Given the description of an element on the screen output the (x, y) to click on. 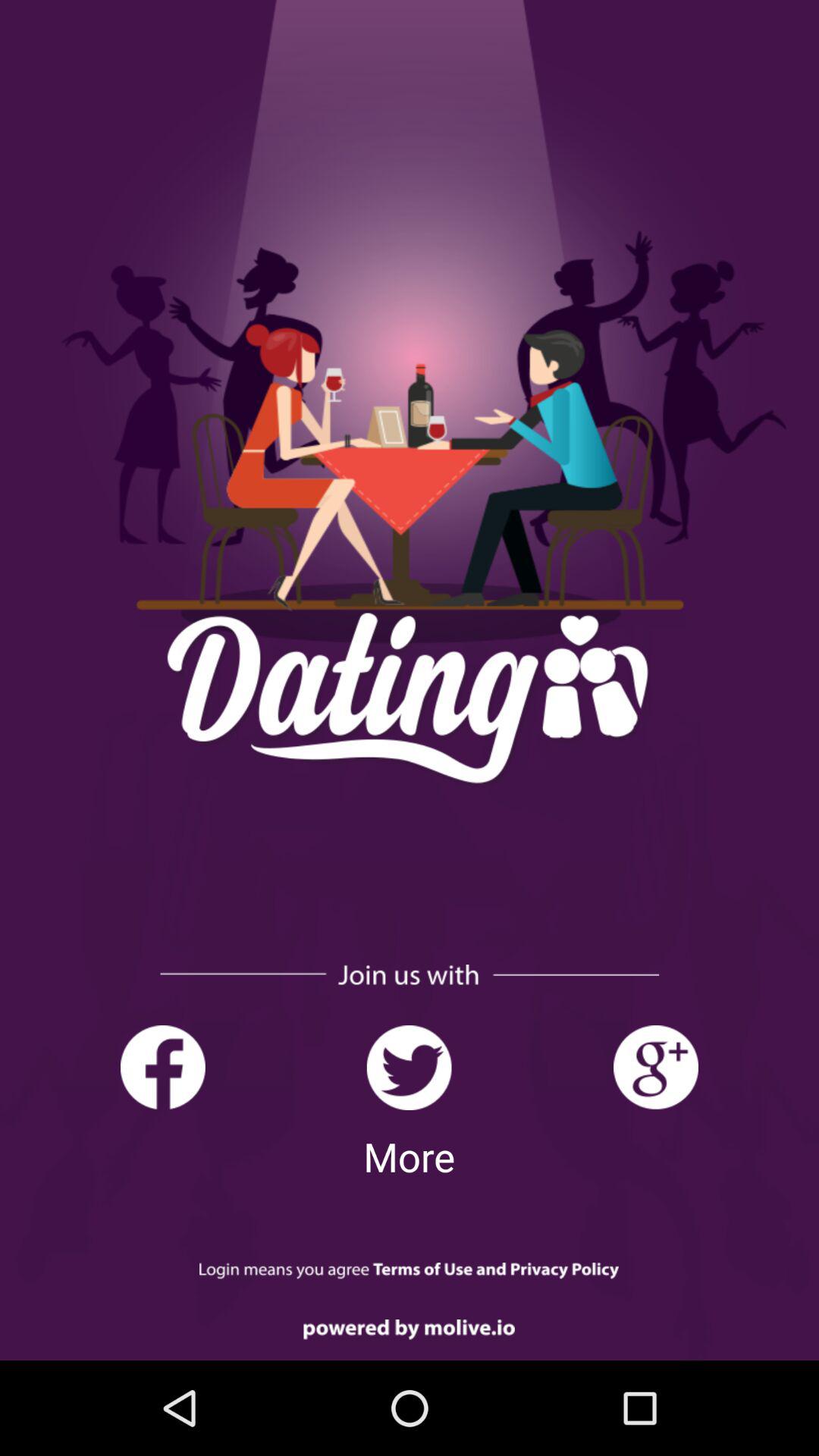
join using facebook (162, 1067)
